Given the description of an element on the screen output the (x, y) to click on. 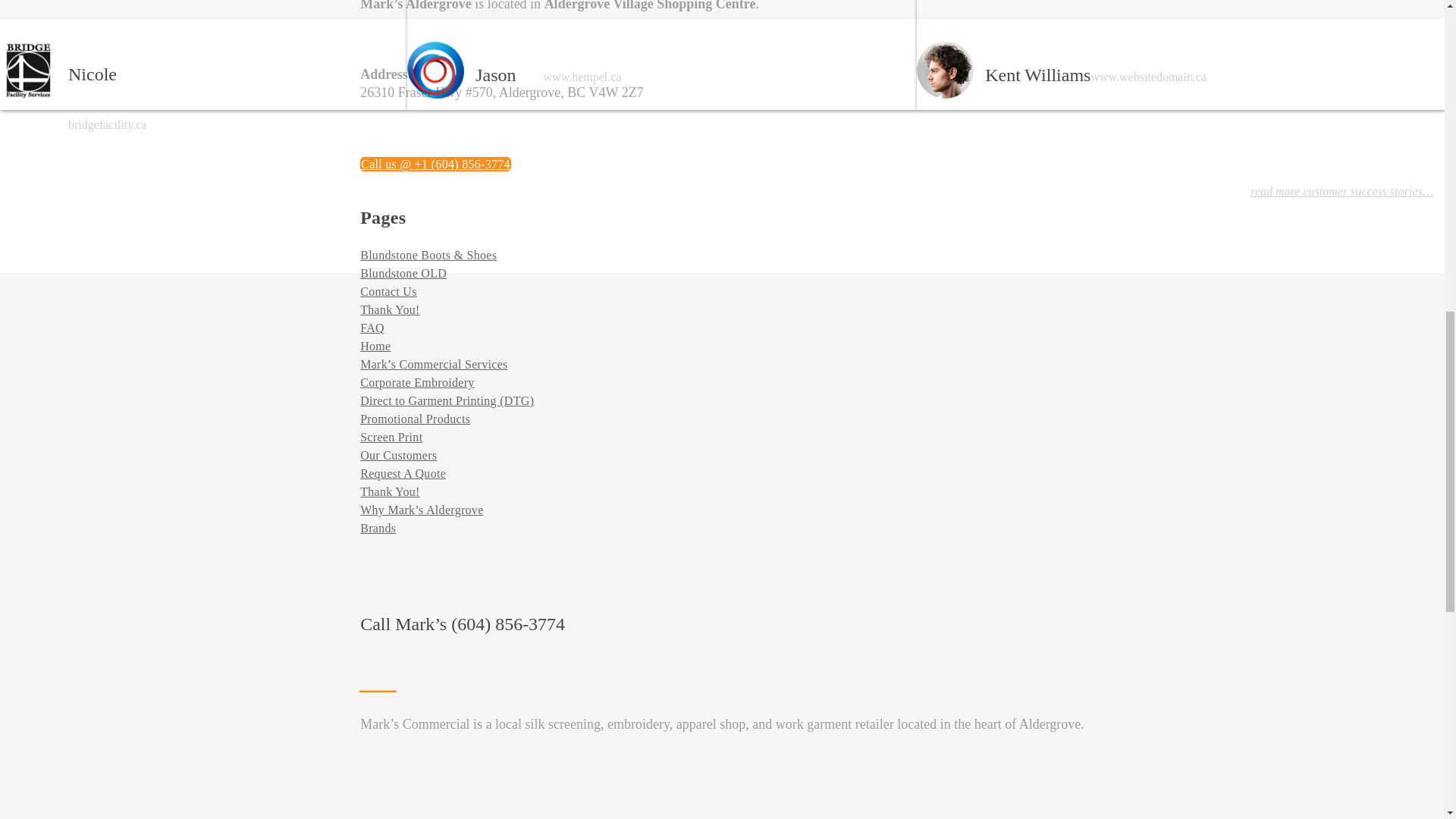
Thank You! (389, 491)
Screen Print (390, 436)
FAQ (371, 327)
Request A Quote (402, 472)
Promotional Products (414, 418)
Our Customers (397, 454)
Corporate Embroidery (416, 382)
Contact Us (387, 291)
Thank You! (389, 309)
Blundstone OLD (402, 273)
Home (374, 345)
